Given the description of an element on the screen output the (x, y) to click on. 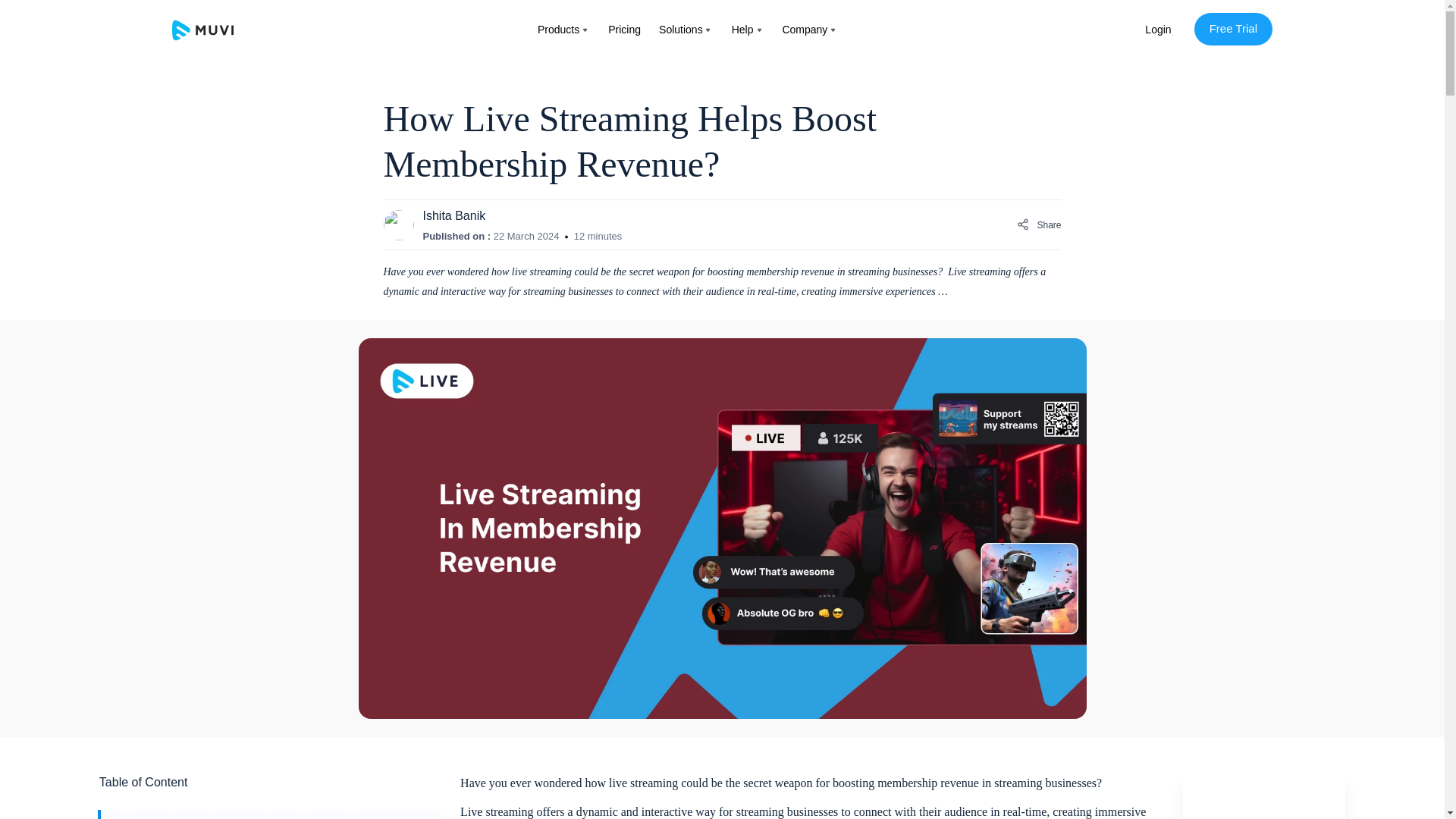
Pricing (624, 29)
Solutions (681, 29)
Products (558, 29)
